Given the description of an element on the screen output the (x, y) to click on. 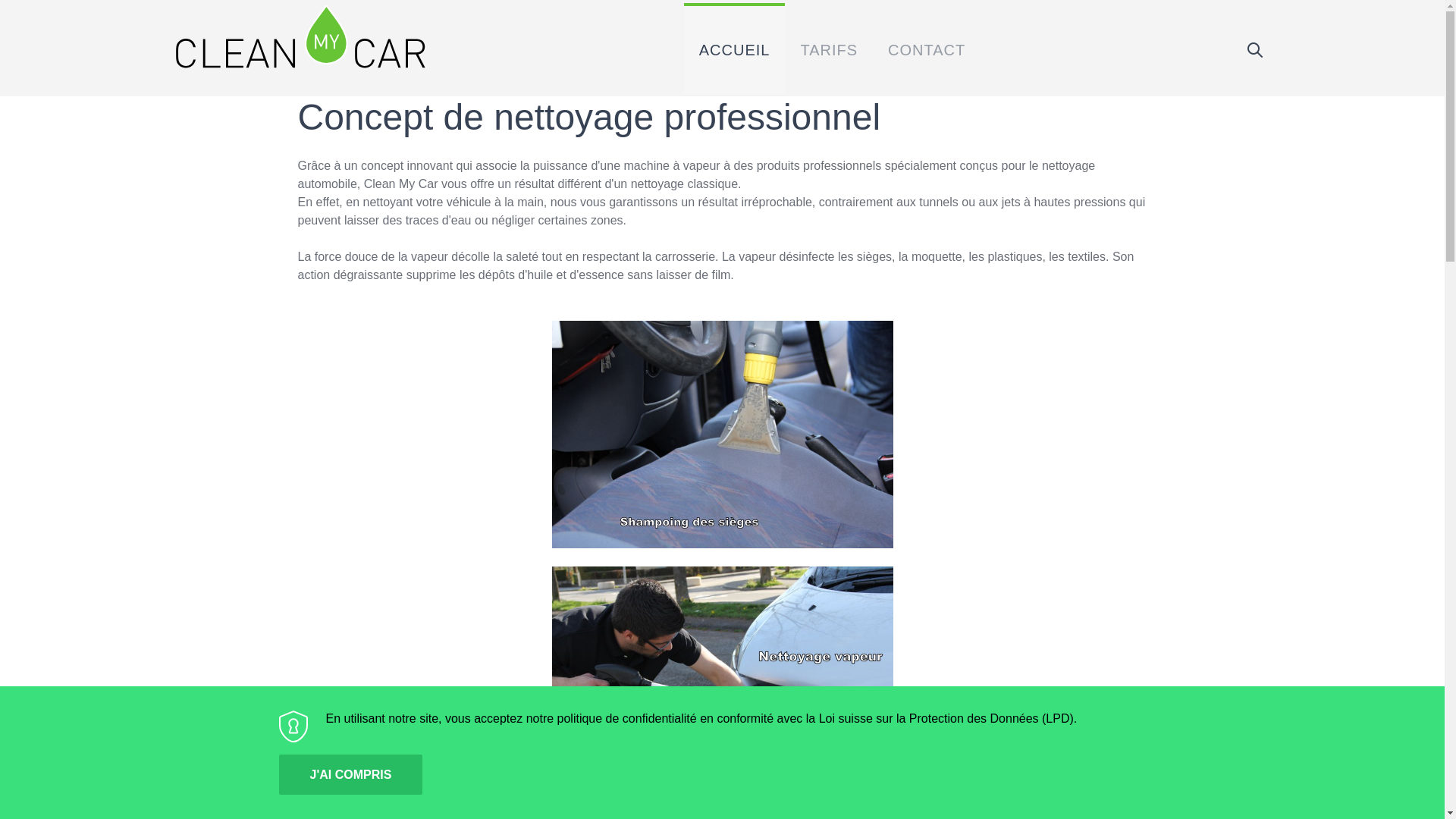
TARIFS Element type: text (828, 48)
CONTACT Element type: text (926, 48)
ACCUEIL Element type: text (734, 48)
J'AI COMPRIS Element type: text (351, 774)
